Given the description of an element on the screen output the (x, y) to click on. 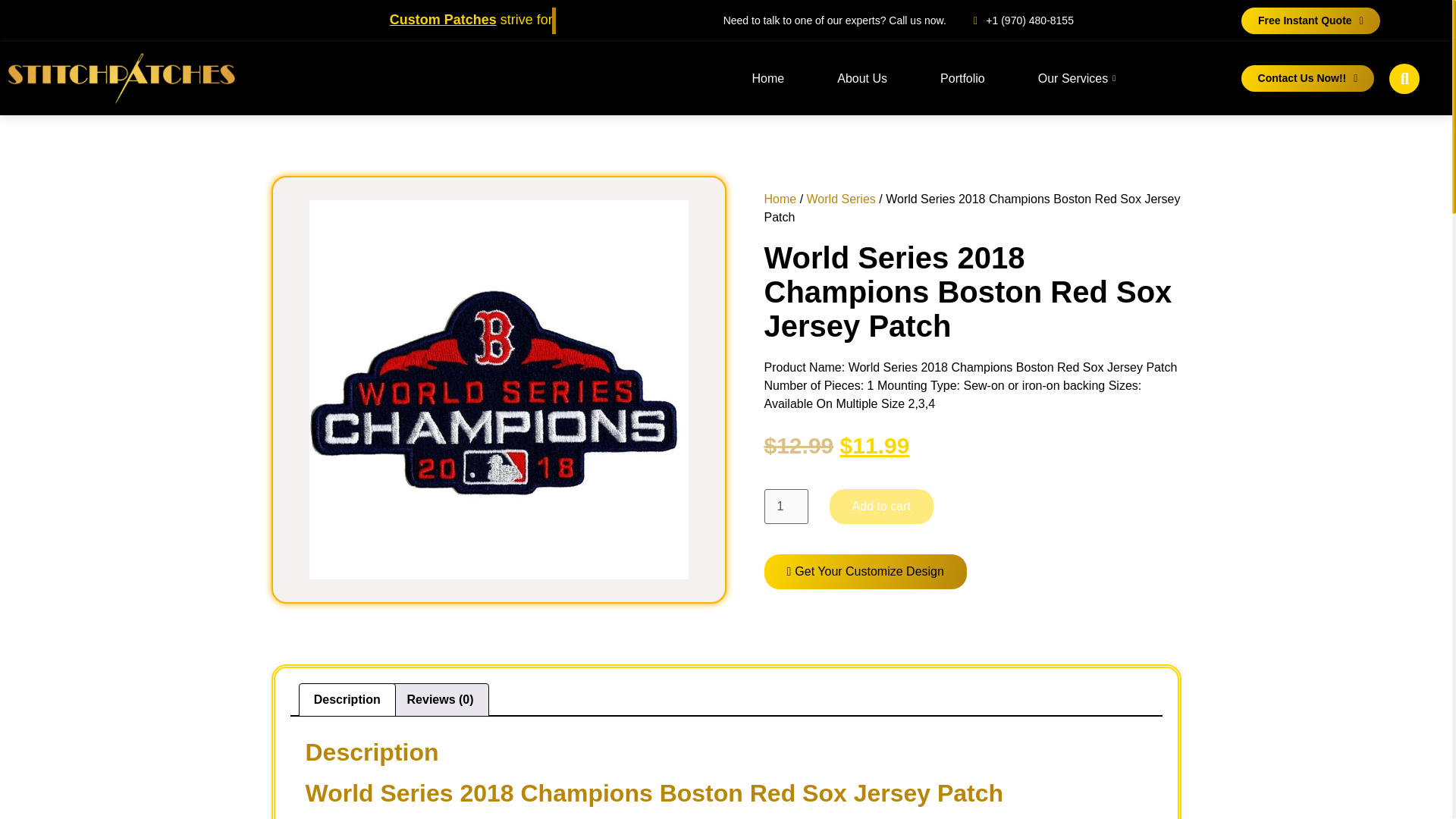
Our Services (1078, 78)
1 (786, 506)
Home (768, 78)
Portfolio (962, 78)
About Us (861, 78)
Free Instant Quote (1310, 20)
